Given the description of an element on the screen output the (x, y) to click on. 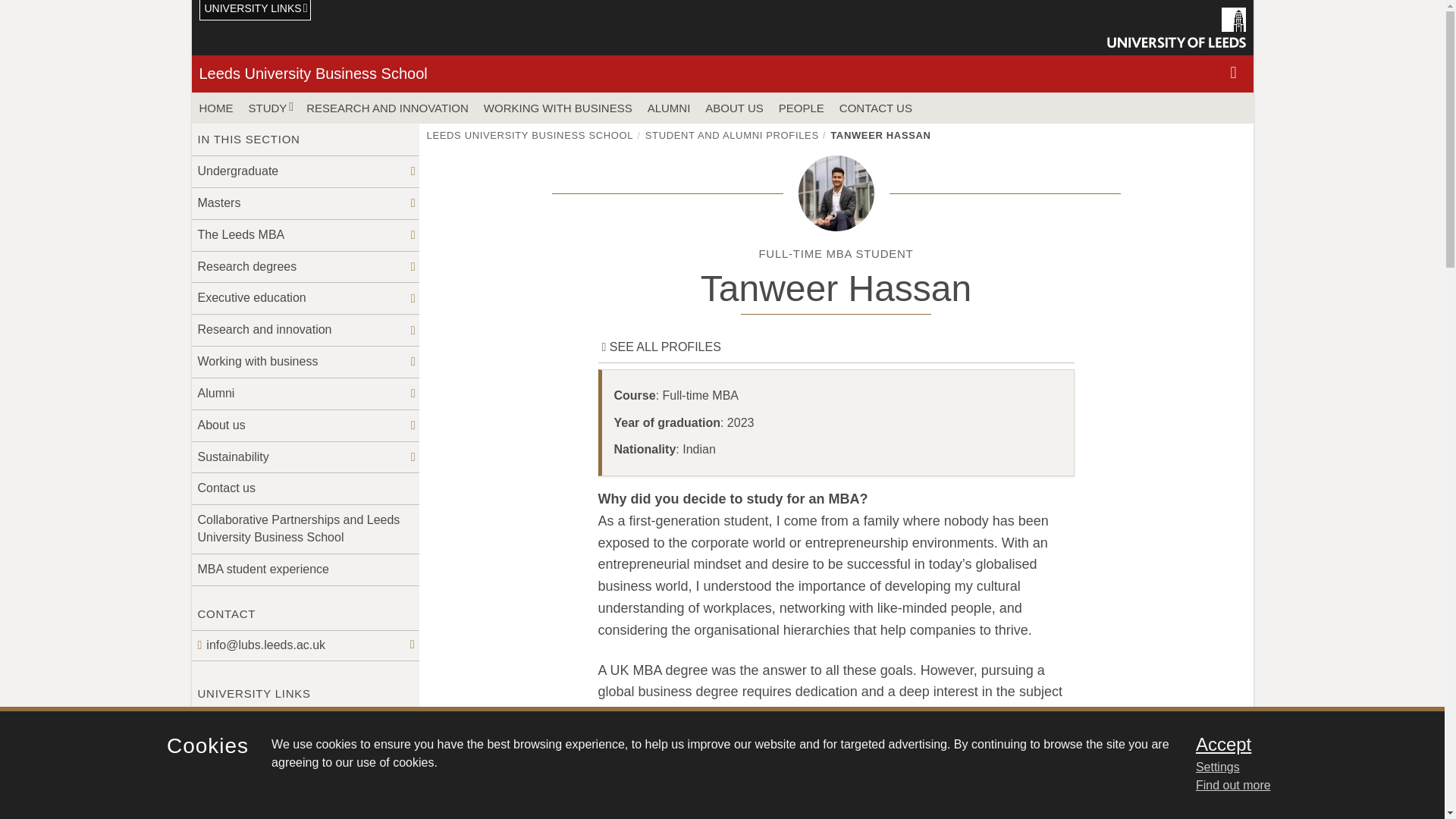
Accept (1300, 744)
Settings (1300, 767)
University of Leeds homepage (1176, 27)
Find out more (1233, 784)
UNIVERSITY LINKS (254, 10)
